Given the description of an element on the screen output the (x, y) to click on. 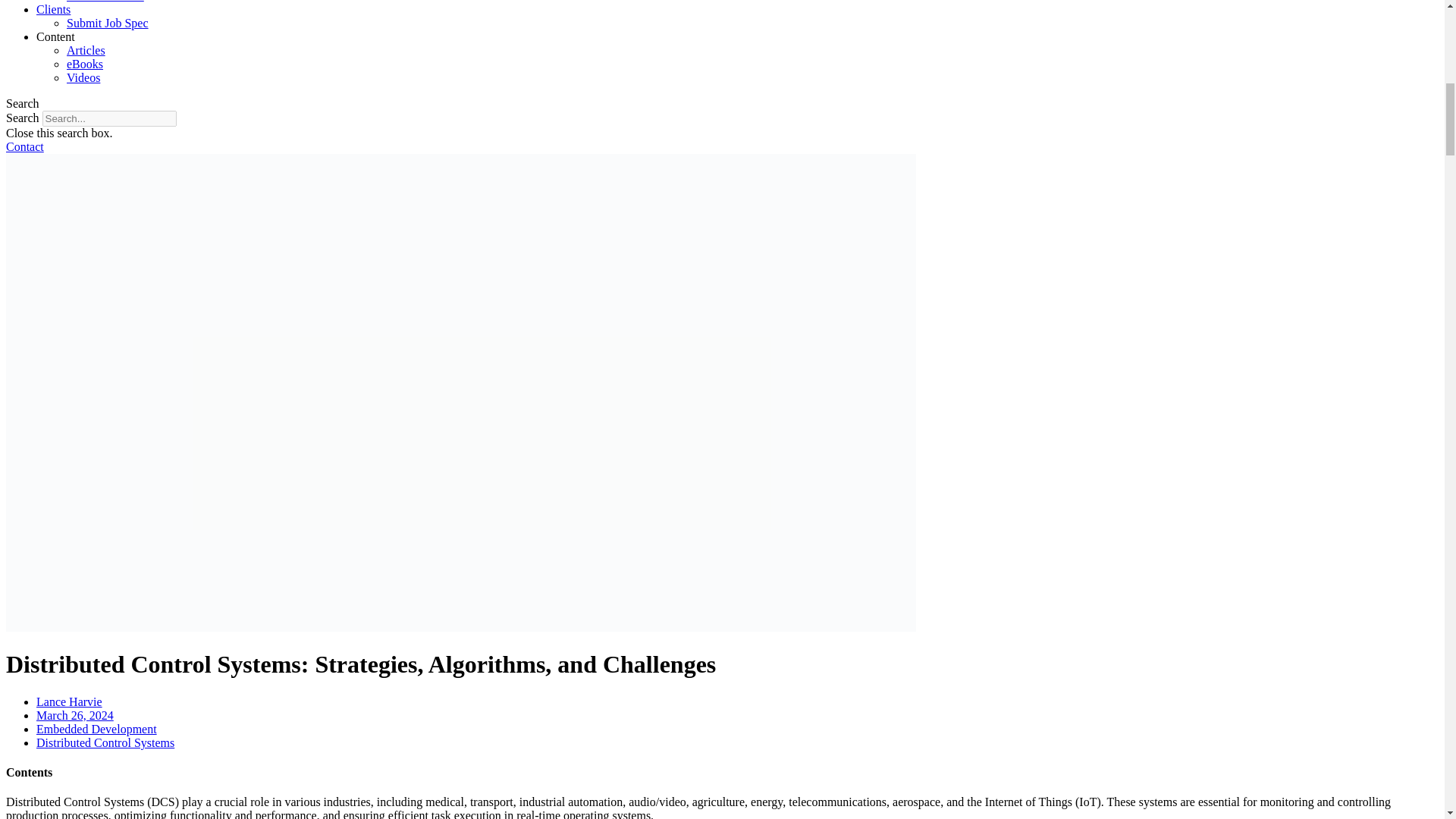
Videos (83, 77)
Clients (52, 9)
Content (55, 36)
Lance Harvie (68, 701)
Articles (85, 50)
Submit Job Spec (107, 22)
Contact (24, 146)
Embedded Development (96, 728)
eBooks (84, 63)
Distributed Control Systems (105, 742)
